Given the description of an element on the screen output the (x, y) to click on. 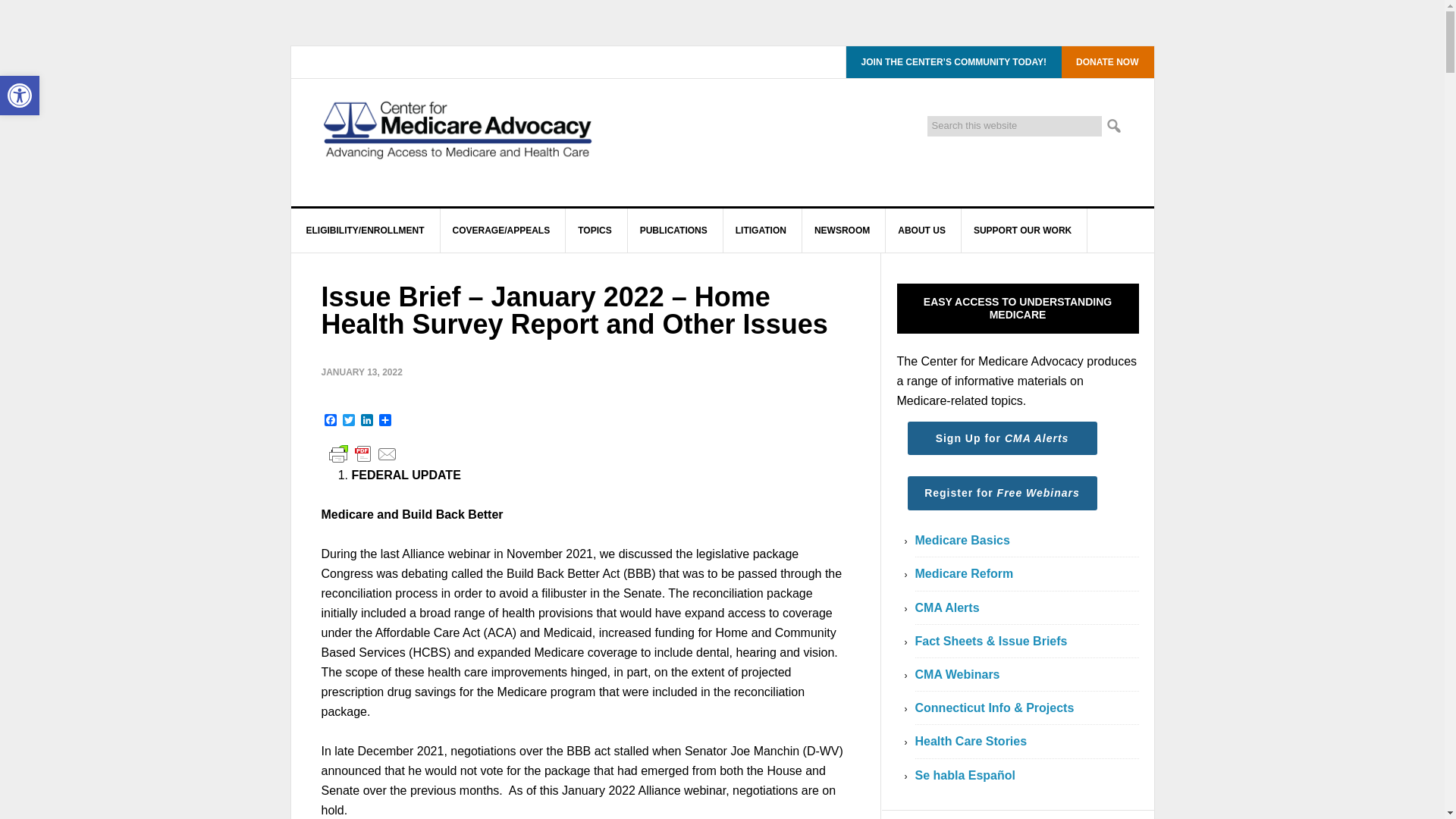
Accessibility Tools (19, 95)
Facebook (330, 421)
DONATE NOW (1106, 61)
TOPICS (594, 230)
LinkedIn (366, 421)
Twitter (348, 421)
Accessibility Tools (19, 95)
Skip to primary navigation (19, 95)
